Given the description of an element on the screen output the (x, y) to click on. 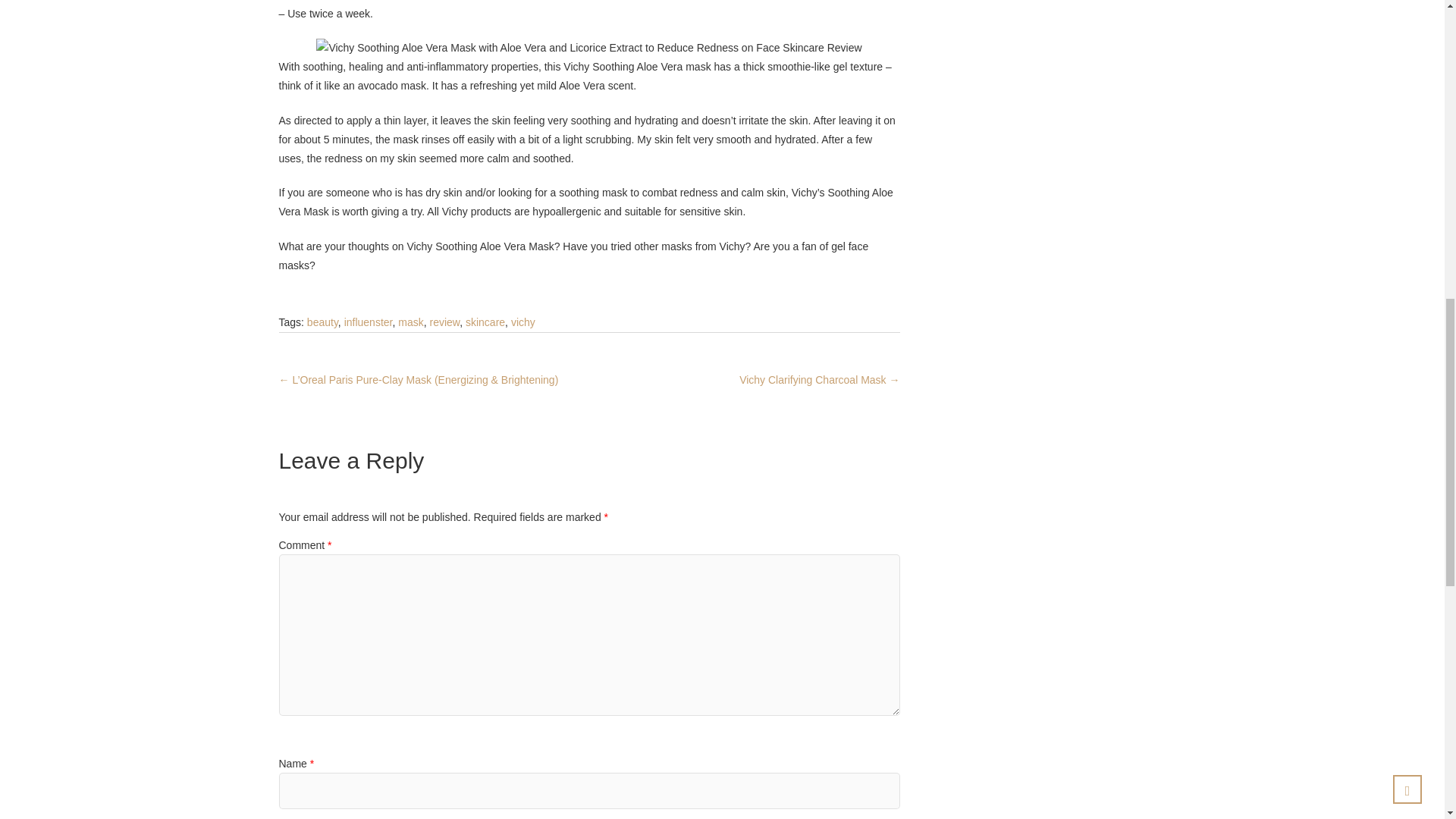
review (444, 322)
vichy (523, 322)
influenster (368, 322)
mask (410, 322)
skincare (485, 322)
beauty (322, 322)
